Given the description of an element on the screen output the (x, y) to click on. 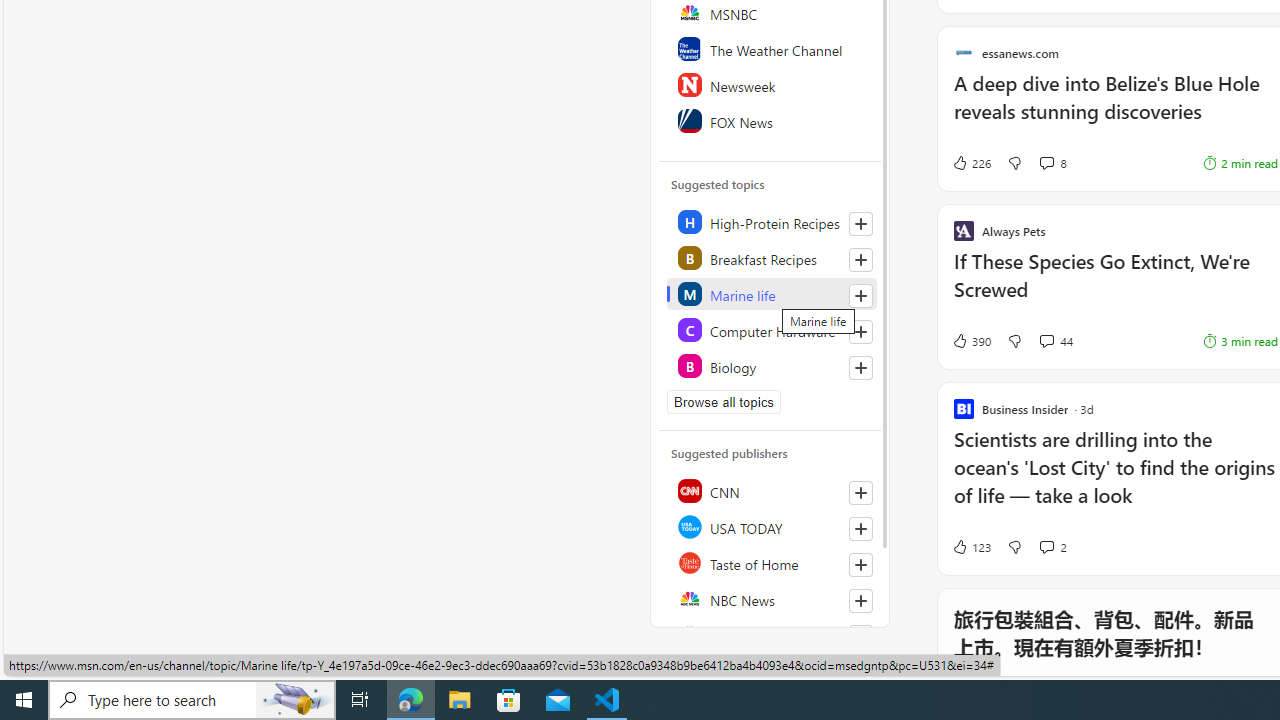
View comments 8 Comment (1052, 162)
NBC News (771, 598)
USA TODAY (771, 526)
FOX News (771, 120)
Class: highlight (771, 365)
Class: highlight selected (771, 293)
Taste of Home (771, 562)
Browse all topics (724, 401)
Reuters (771, 634)
View comments 44 Comment (1046, 340)
Follow this source (860, 600)
